Given the description of an element on the screen output the (x, y) to click on. 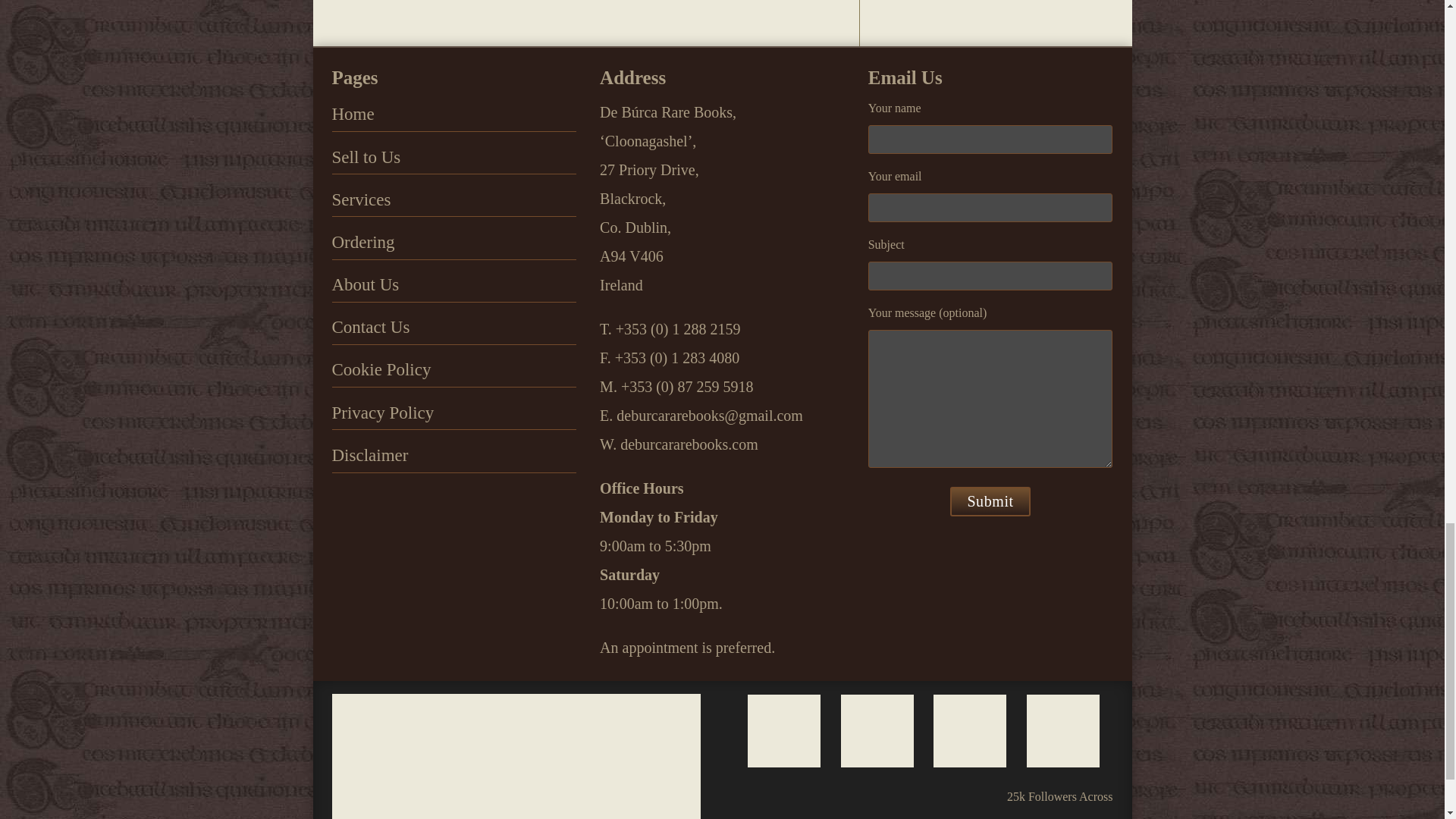
Follow on X (1005, 811)
Submit (989, 501)
Follow on Facebook (1055, 811)
Follow on Instagram (954, 811)
4-Logos-with-Text-2-350px (516, 756)
Follow on Youtube (1104, 811)
